Given the description of an element on the screen output the (x, y) to click on. 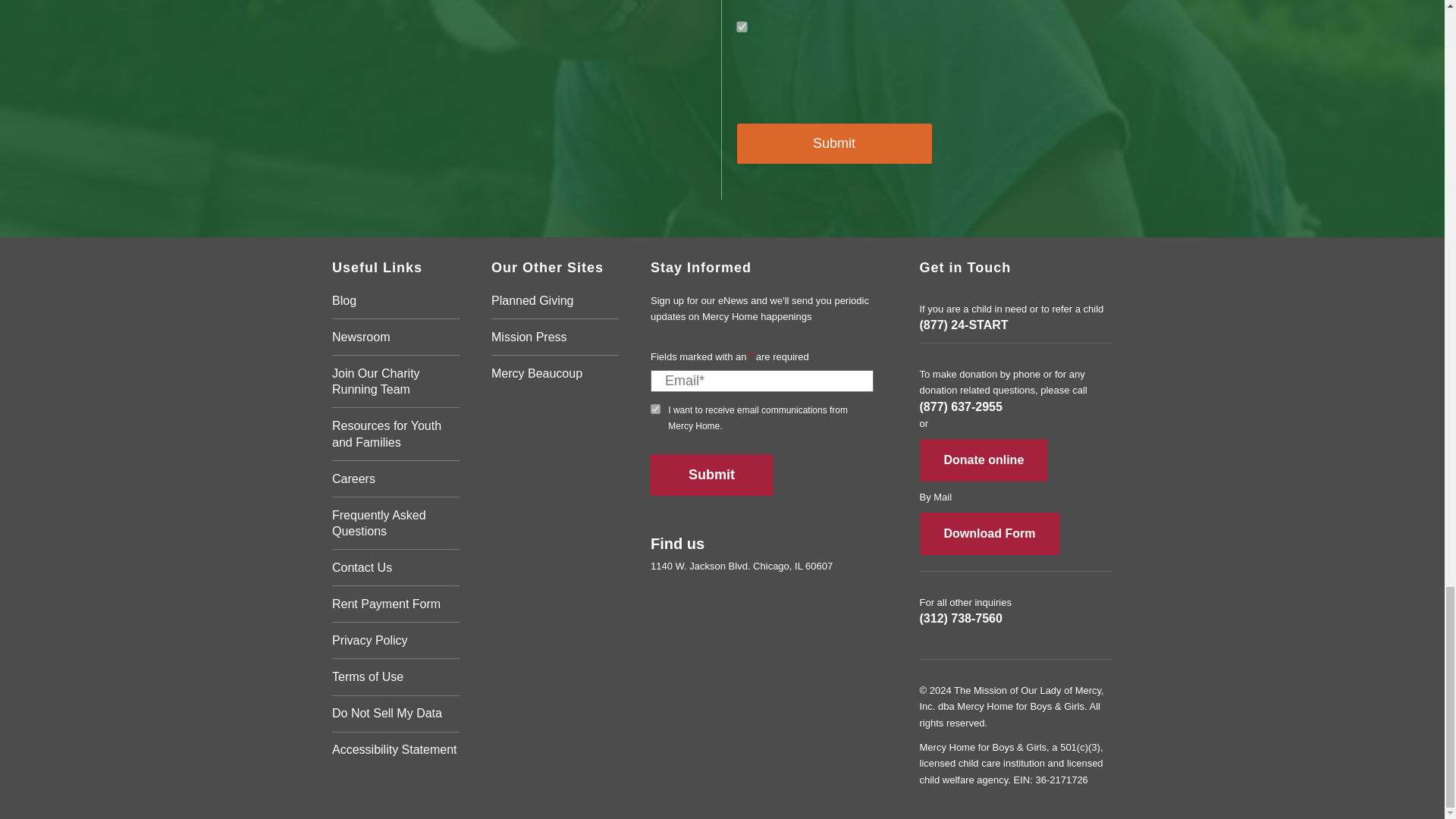
Submit (711, 475)
1 (655, 409)
1 (740, 26)
Read our latest blog posts (395, 305)
Submit (833, 143)
